Given the description of an element on the screen output the (x, y) to click on. 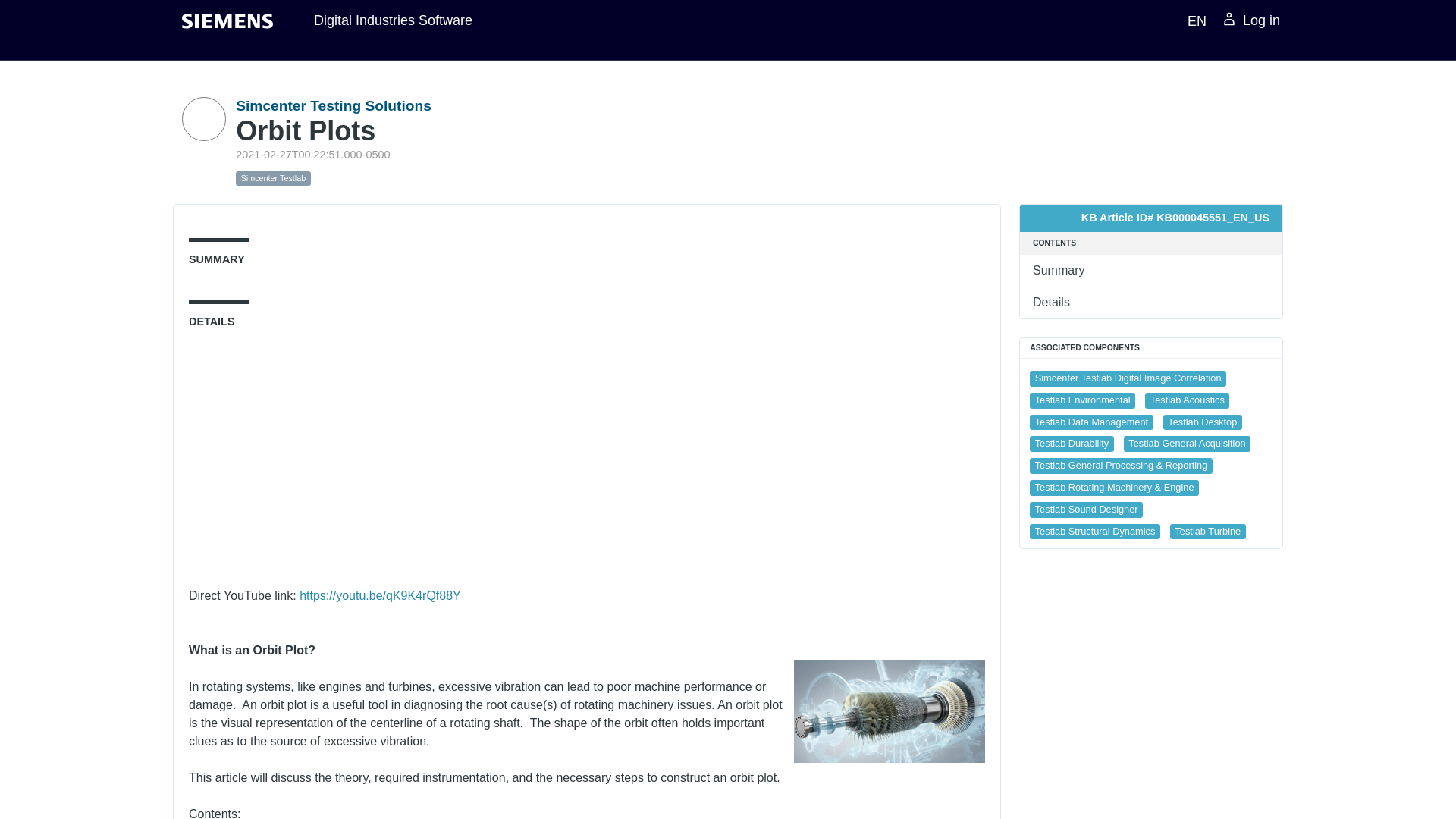
Siemens (227, 20)
Digital Industries Software (392, 20)
EN (1193, 20)
Log in (1250, 20)
YouTube video player (400, 462)
